Given the description of an element on the screen output the (x, y) to click on. 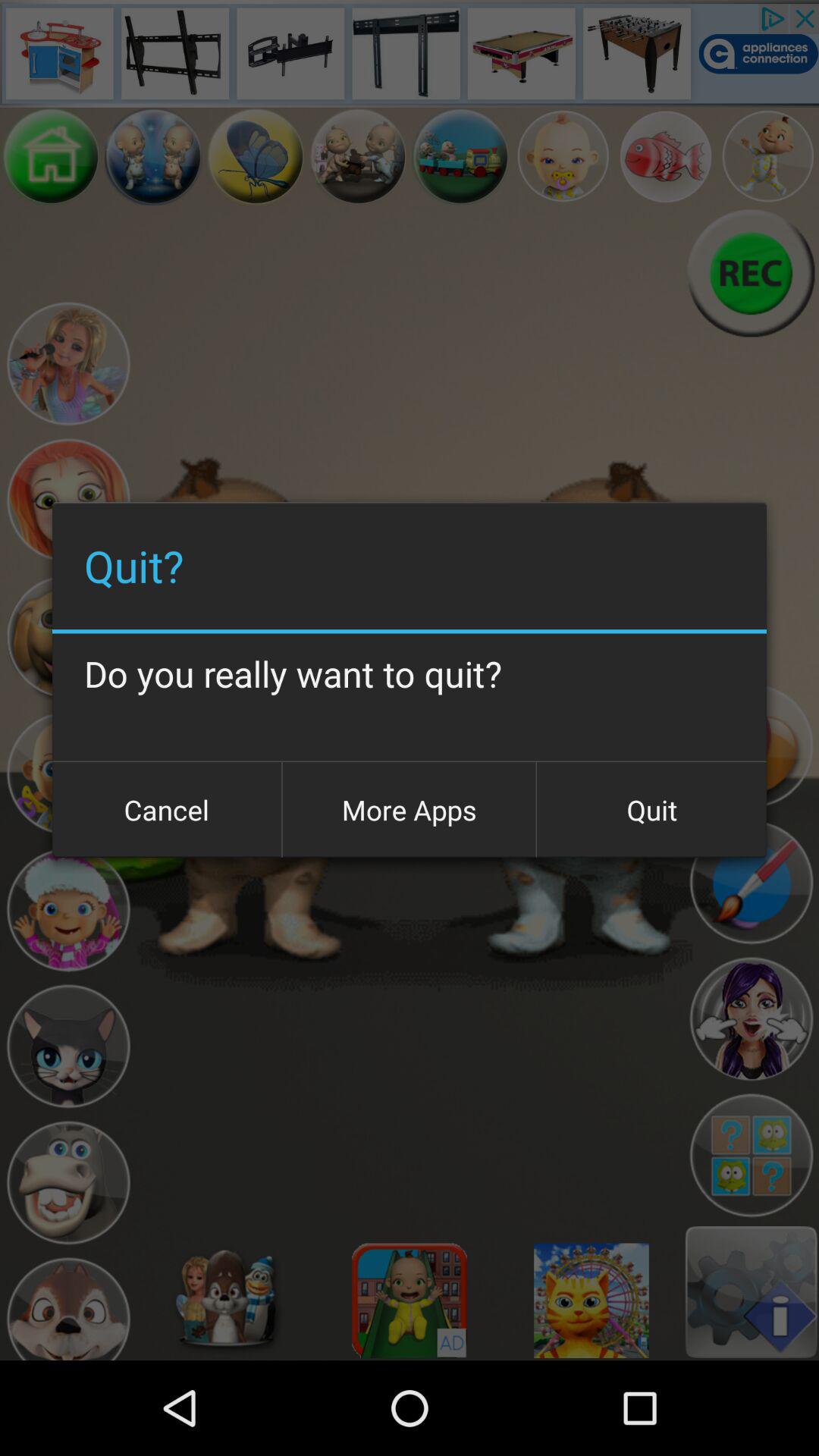
select advertisement (409, 53)
